Given the description of an element on the screen output the (x, y) to click on. 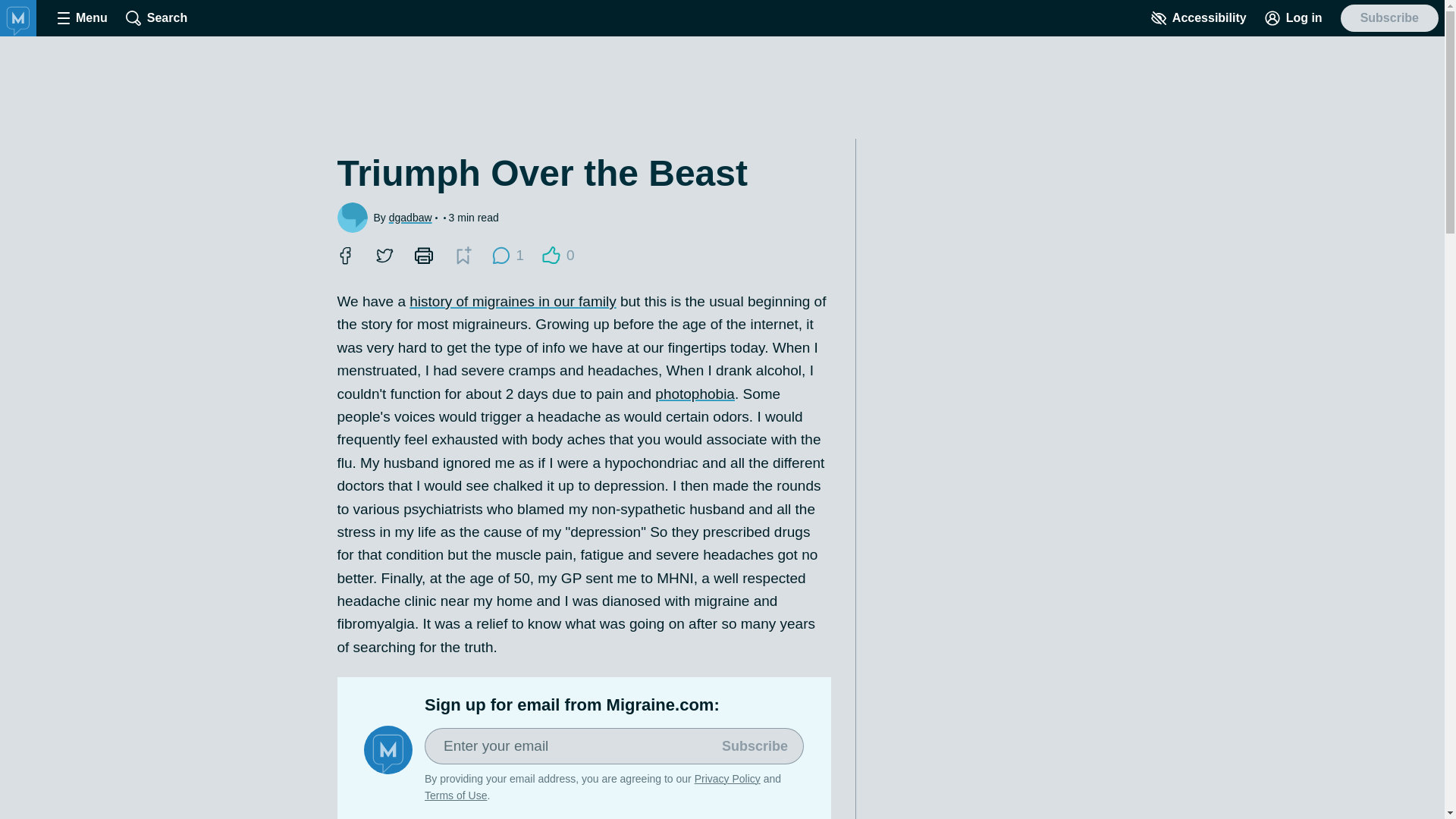
comment (500, 255)
Privacy Policy (727, 778)
Reactions (550, 255)
photophobia (695, 393)
print page (422, 255)
Terms of Use (455, 795)
Log in (1293, 18)
Search (156, 18)
Share to Facebook (557, 255)
